Given the description of an element on the screen output the (x, y) to click on. 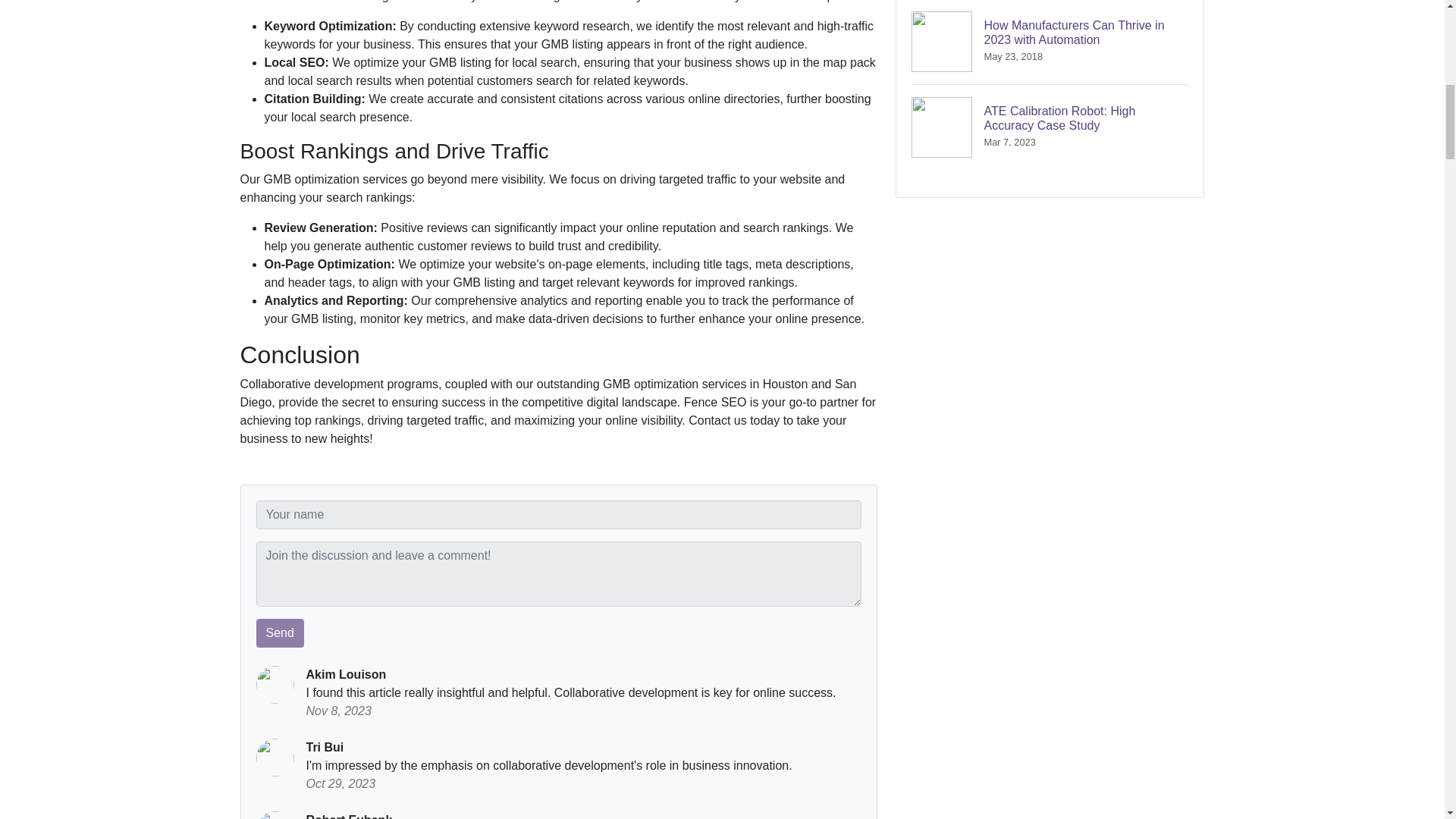
Send (280, 633)
Send (280, 633)
